Given the description of an element on the screen output the (x, y) to click on. 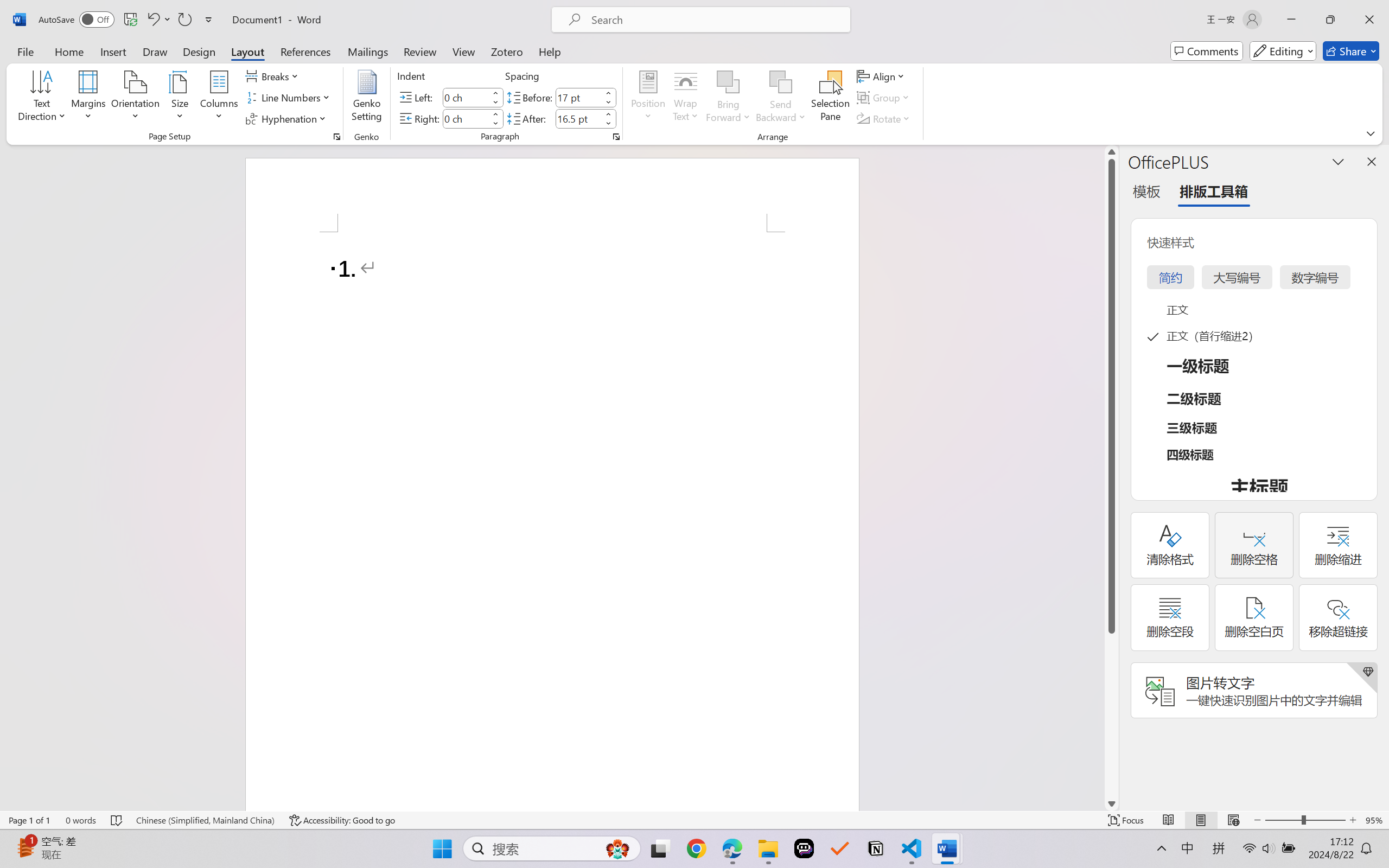
Line down (1111, 803)
Less (608, 123)
Genko Setting... (367, 97)
